Given the description of an element on the screen output the (x, y) to click on. 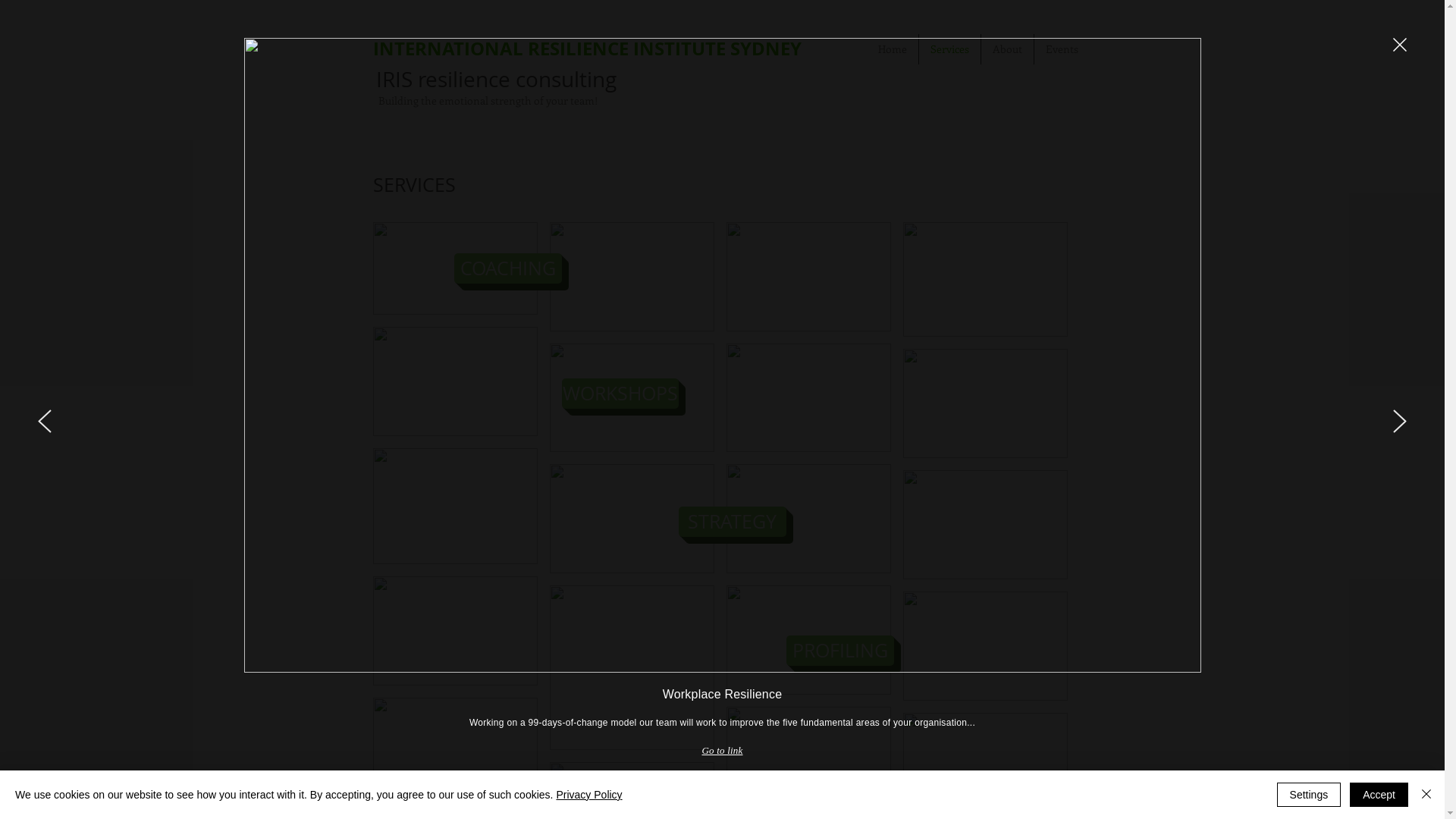
COACHING Element type: text (507, 268)
Settings Element type: text (1309, 794)
EVENTS Element type: text (947, 786)
Events Element type: text (1061, 48)
INTERNATIONAL RESILIENCE INSTITUTE SYDNEY Element type: text (587, 48)
Privacy Policy Element type: text (588, 794)
About Element type: text (1007, 48)
WORKSHOPS Element type: text (619, 392)
IRIS resilience consulting Element type: text (496, 79)
Go to link Element type: text (722, 750)
Services Element type: text (949, 48)
Accept Element type: text (1378, 794)
PROFILING Element type: text (839, 650)
 Building the emotional strength of your team! Element type: text (486, 99)
STRATEGY Element type: text (731, 521)
Home Element type: text (891, 48)
